Given the description of an element on the screen output the (x, y) to click on. 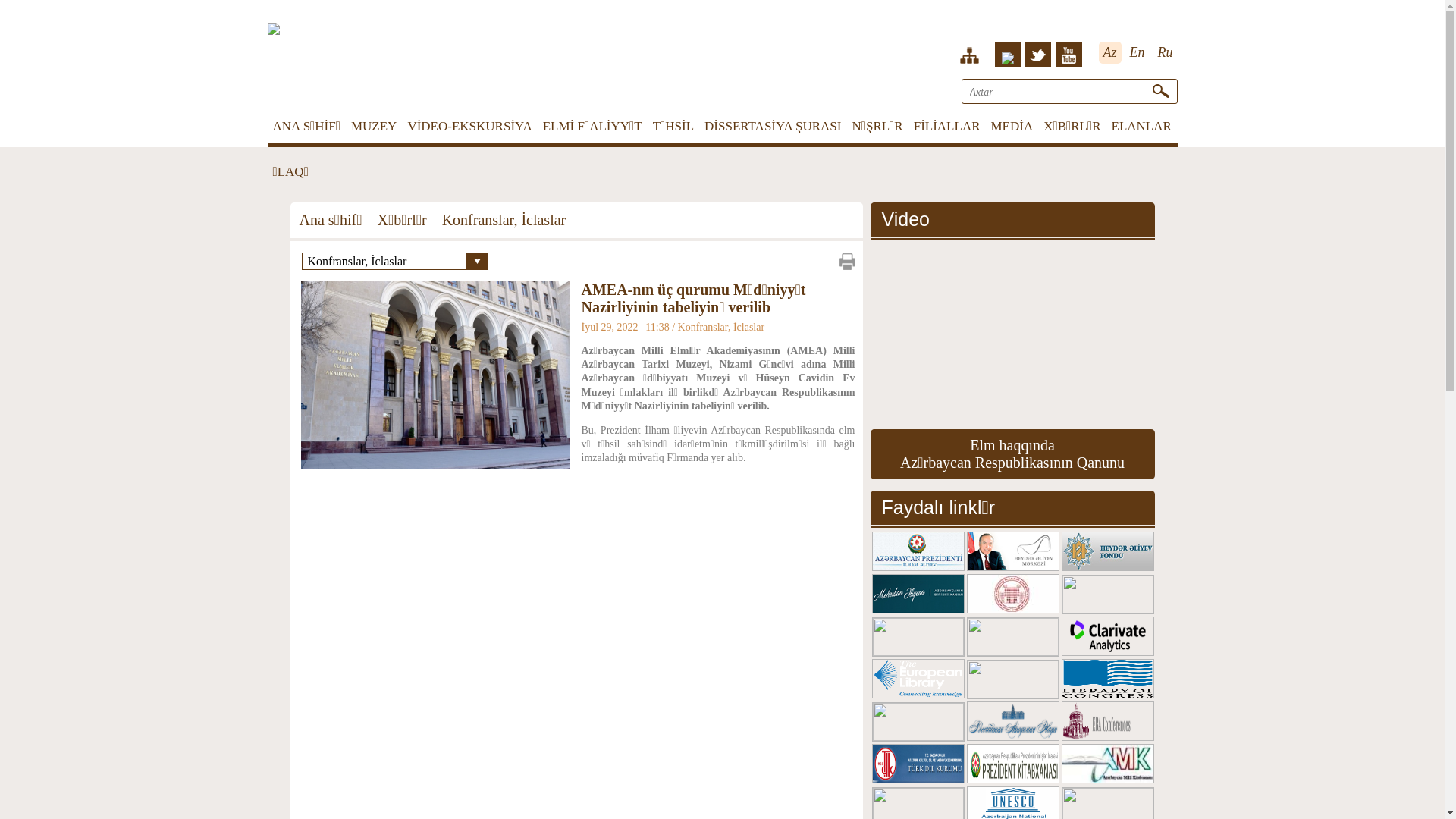
MUZEY Element type: text (373, 126)
ELANLAR Element type: text (1141, 126)
Ru Element type: text (1164, 52)
En Element type: text (1137, 52)
Az Element type: text (1109, 52)
